Given the description of an element on the screen output the (x, y) to click on. 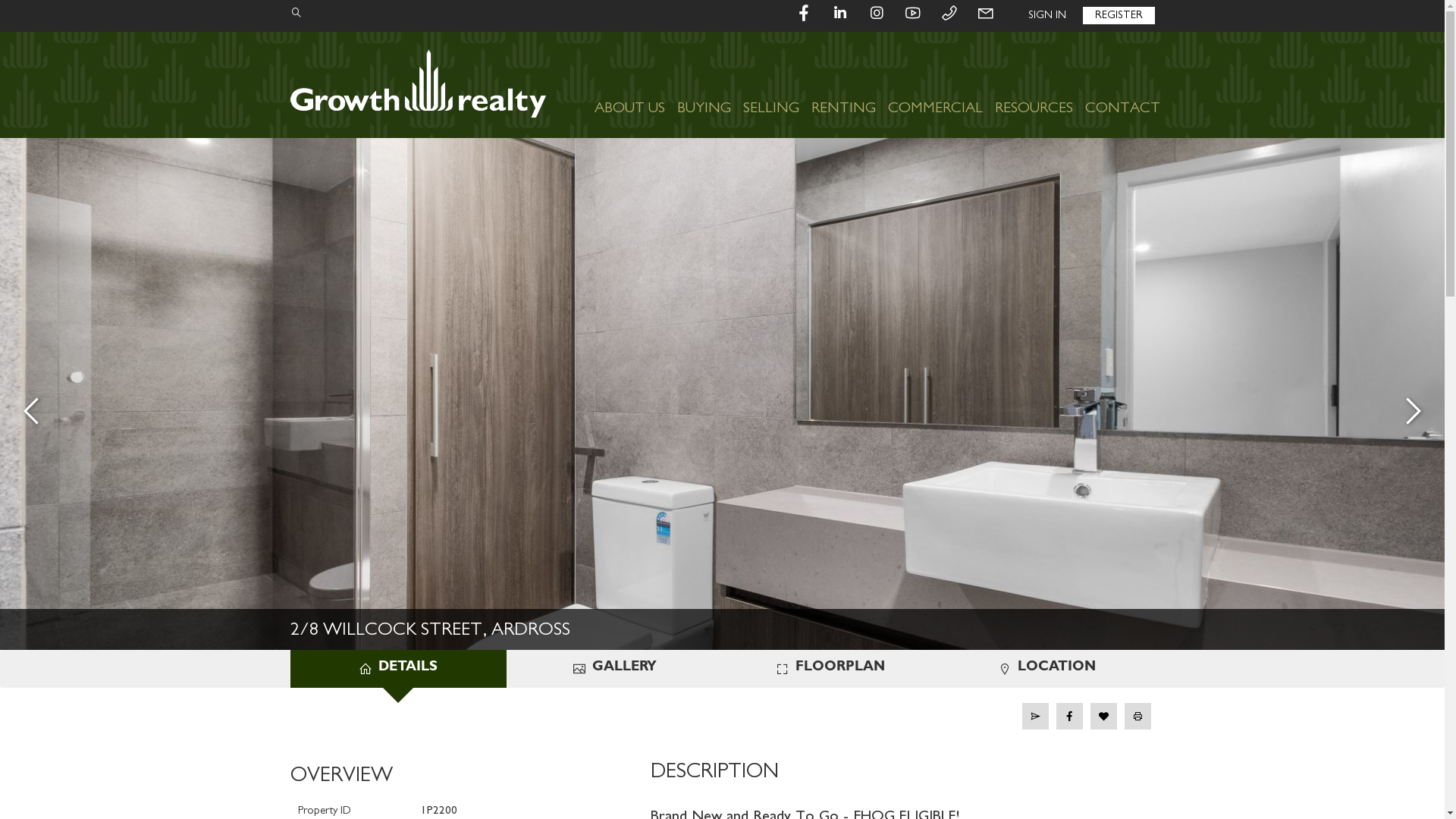
FLOORPLAN Element type: text (829, 668)
GALLERY Element type: text (614, 668)
BUYING Element type: text (703, 84)
RESOURCES Element type: text (1033, 84)
COMMERCIAL Element type: text (934, 84)
LOCATION Element type: text (1046, 668)
Email to Friend Element type: hover (1035, 715)
REGISTER Element type: text (1118, 15)
SIGN IN Element type: text (1047, 15)
RENTING Element type: text (843, 84)
DETAILS Element type: text (397, 668)
ABOUT US Element type: text (629, 84)
CONTACT Element type: text (1121, 84)
SELLING Element type: text (771, 84)
